Given the description of an element on the screen output the (x, y) to click on. 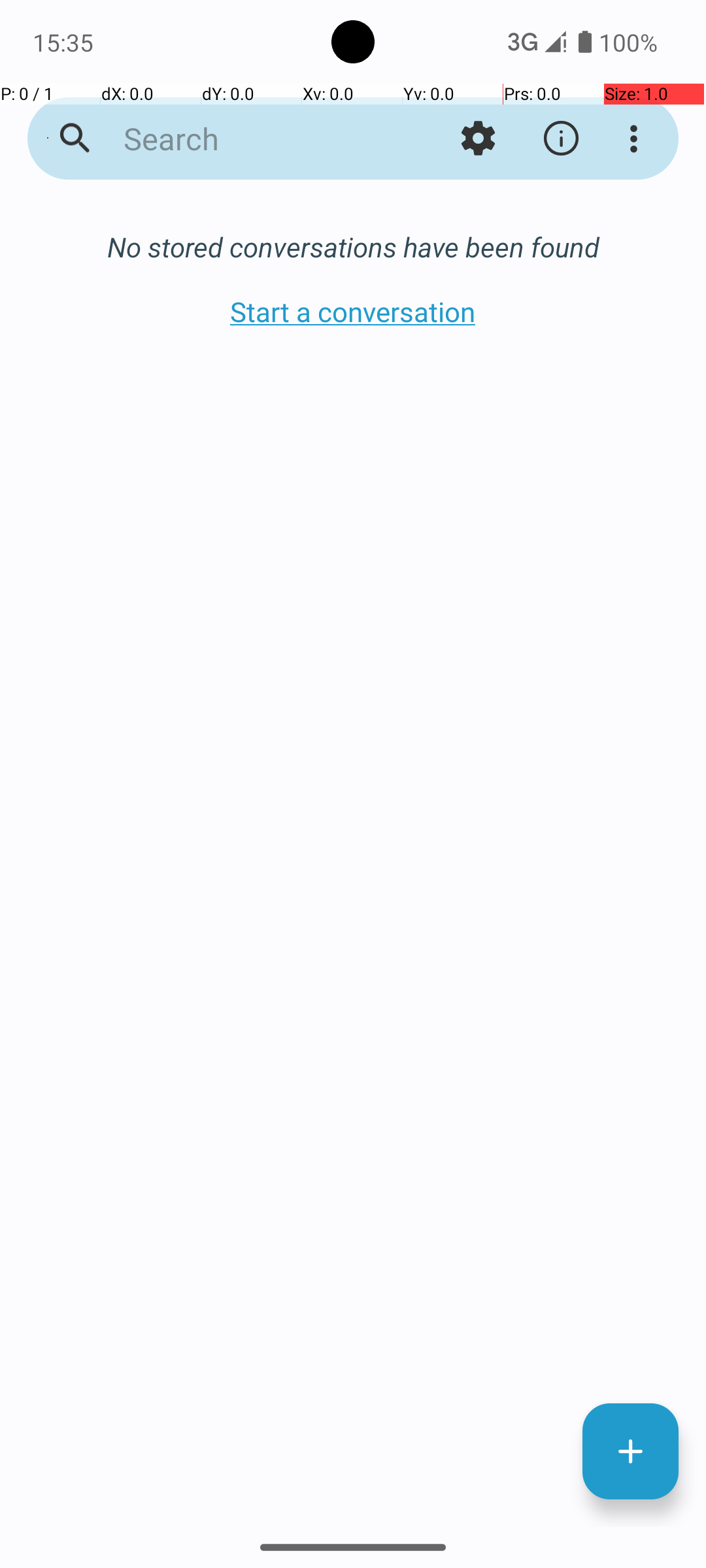
No stored conversations have been found Element type: android.widget.TextView (353, 246)
Start a conversation Element type: android.widget.TextView (352, 311)
